Given the description of an element on the screen output the (x, y) to click on. 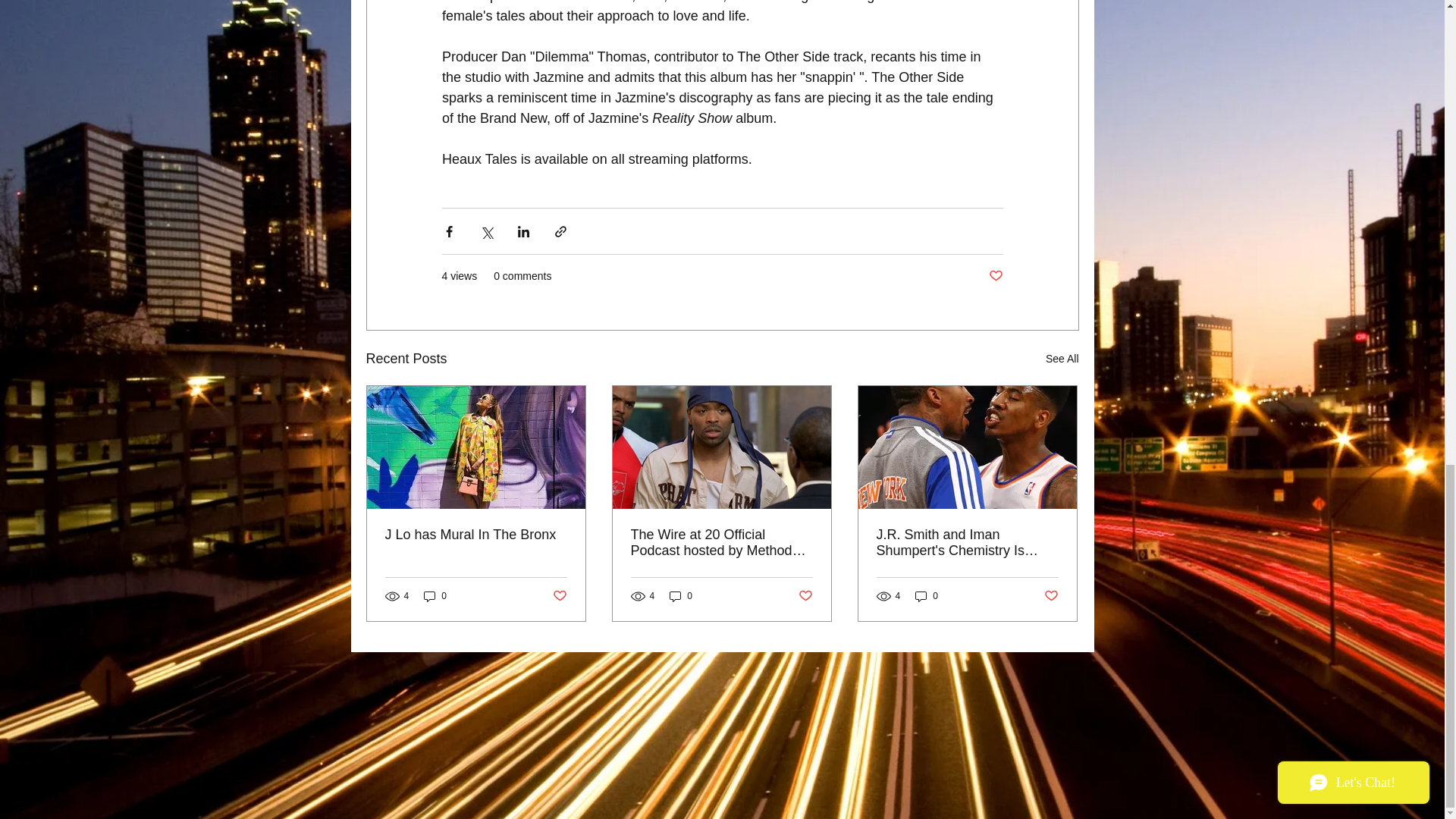
0 (926, 595)
Post not marked as liked (804, 596)
0 (435, 595)
J Lo has Mural In The Bronx (476, 534)
The Wire at 20 Official Podcast hosted by Method Man (721, 542)
Post not marked as liked (558, 596)
Post not marked as liked (995, 276)
See All (1061, 359)
0 (681, 595)
Post not marked as liked (1050, 596)
